Given the description of an element on the screen output the (x, y) to click on. 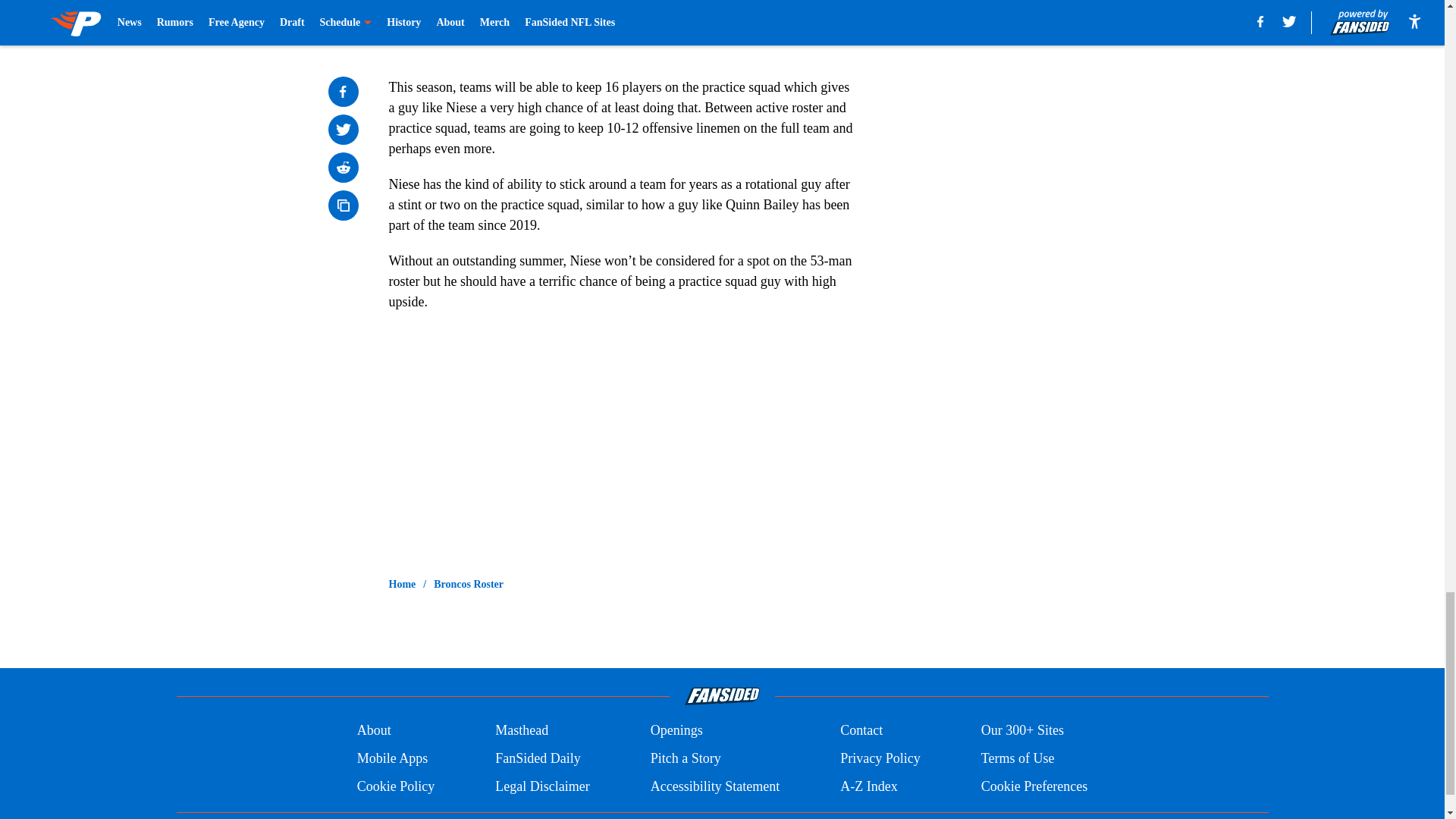
Masthead (521, 730)
Contact (861, 730)
Terms of Use (1017, 758)
About (373, 730)
Broncos Roster (468, 584)
Pitch a Story (685, 758)
FanSided Daily (537, 758)
Home (401, 584)
Privacy Policy (880, 758)
Openings (676, 730)
Mobile Apps (392, 758)
Cookie Policy (395, 786)
